Given the description of an element on the screen output the (x, y) to click on. 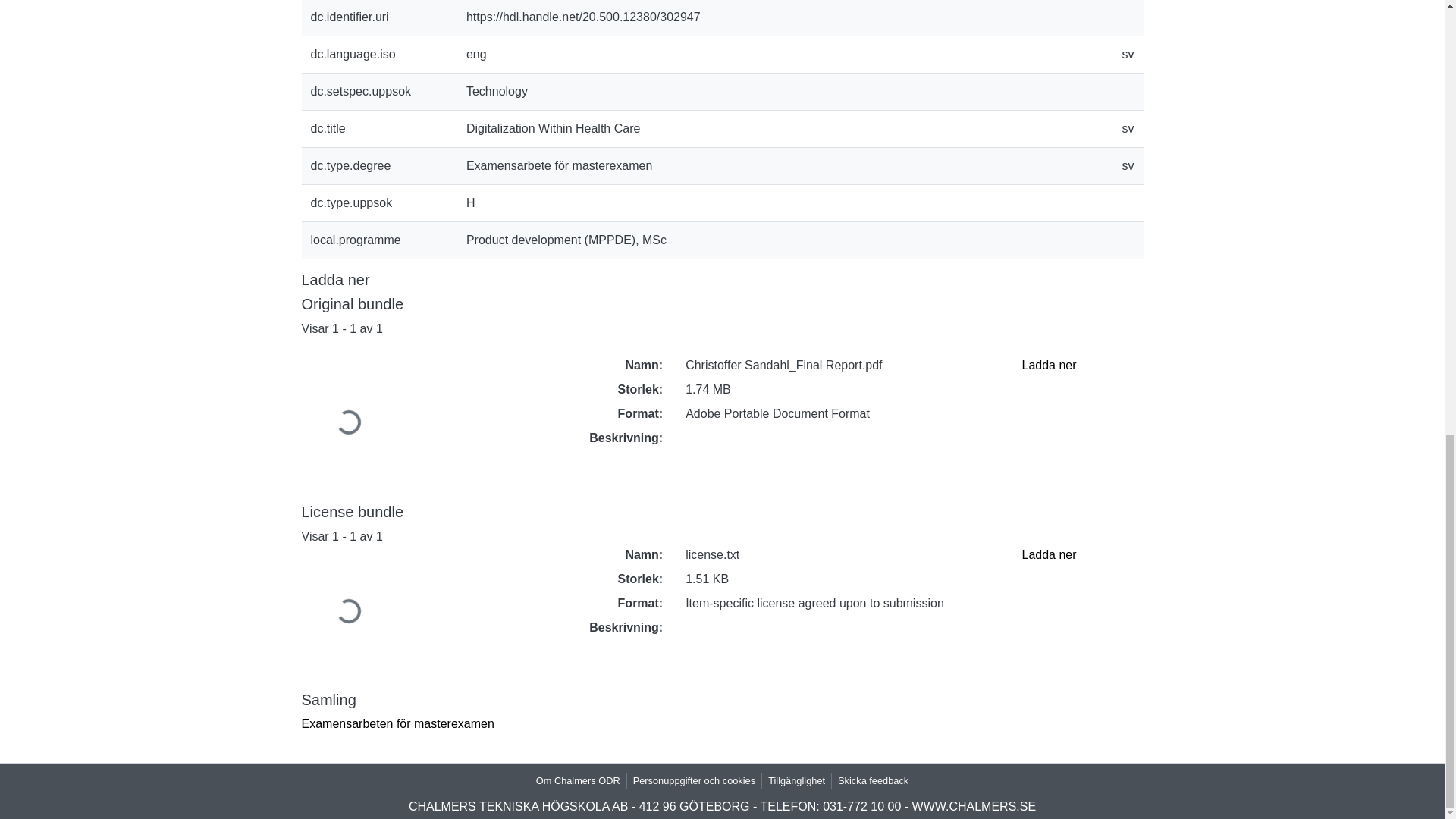
Ladda ner (1048, 364)
Skicka feedback (872, 780)
Personuppgifter och cookies (694, 780)
WWW.CHALMERS.SE (974, 806)
Om Chalmers ODR (577, 780)
Ladda ner (1048, 554)
